Given the description of an element on the screen output the (x, y) to click on. 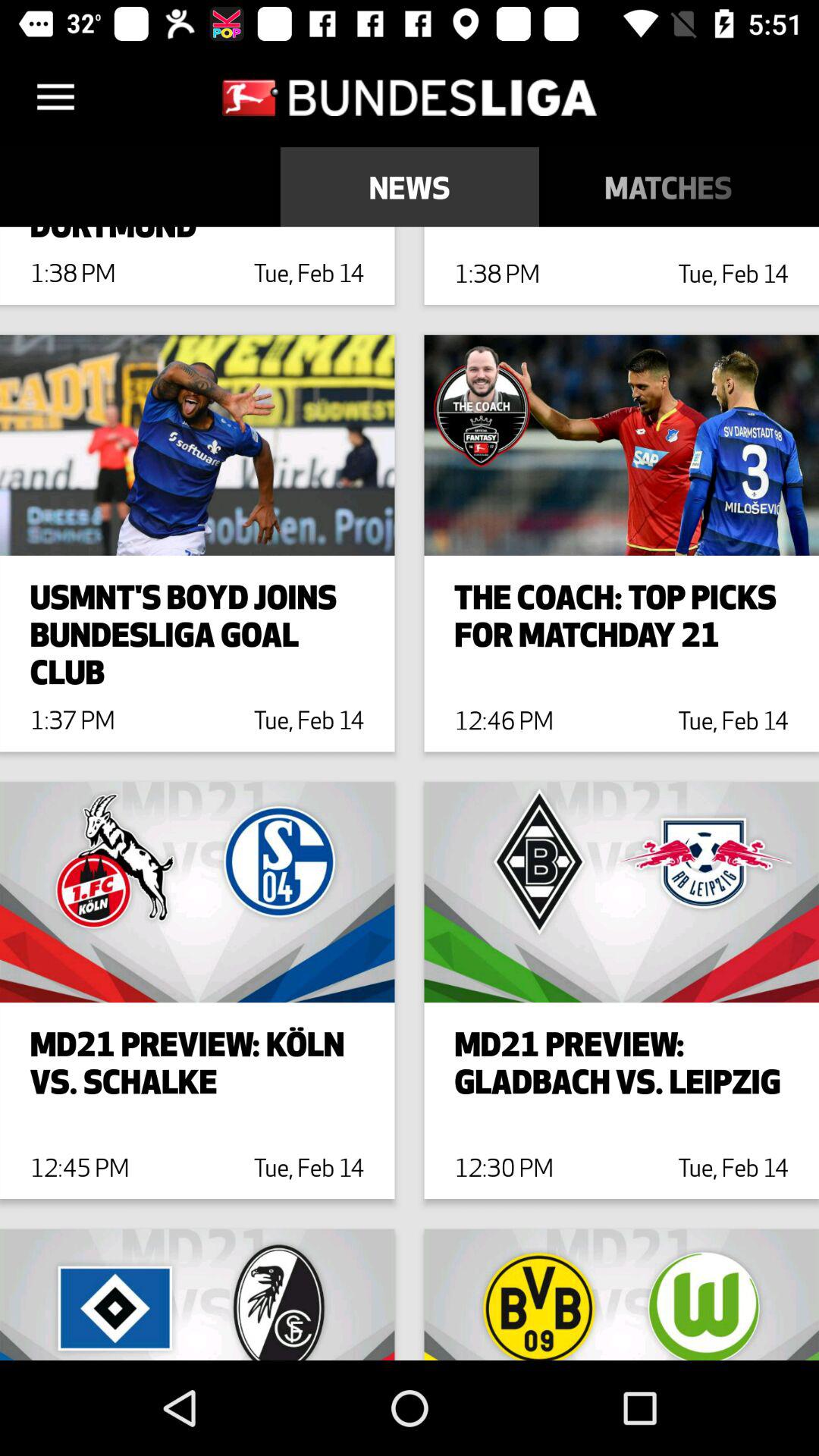
click item to the left of the matches item (409, 186)
